Given the description of an element on the screen output the (x, y) to click on. 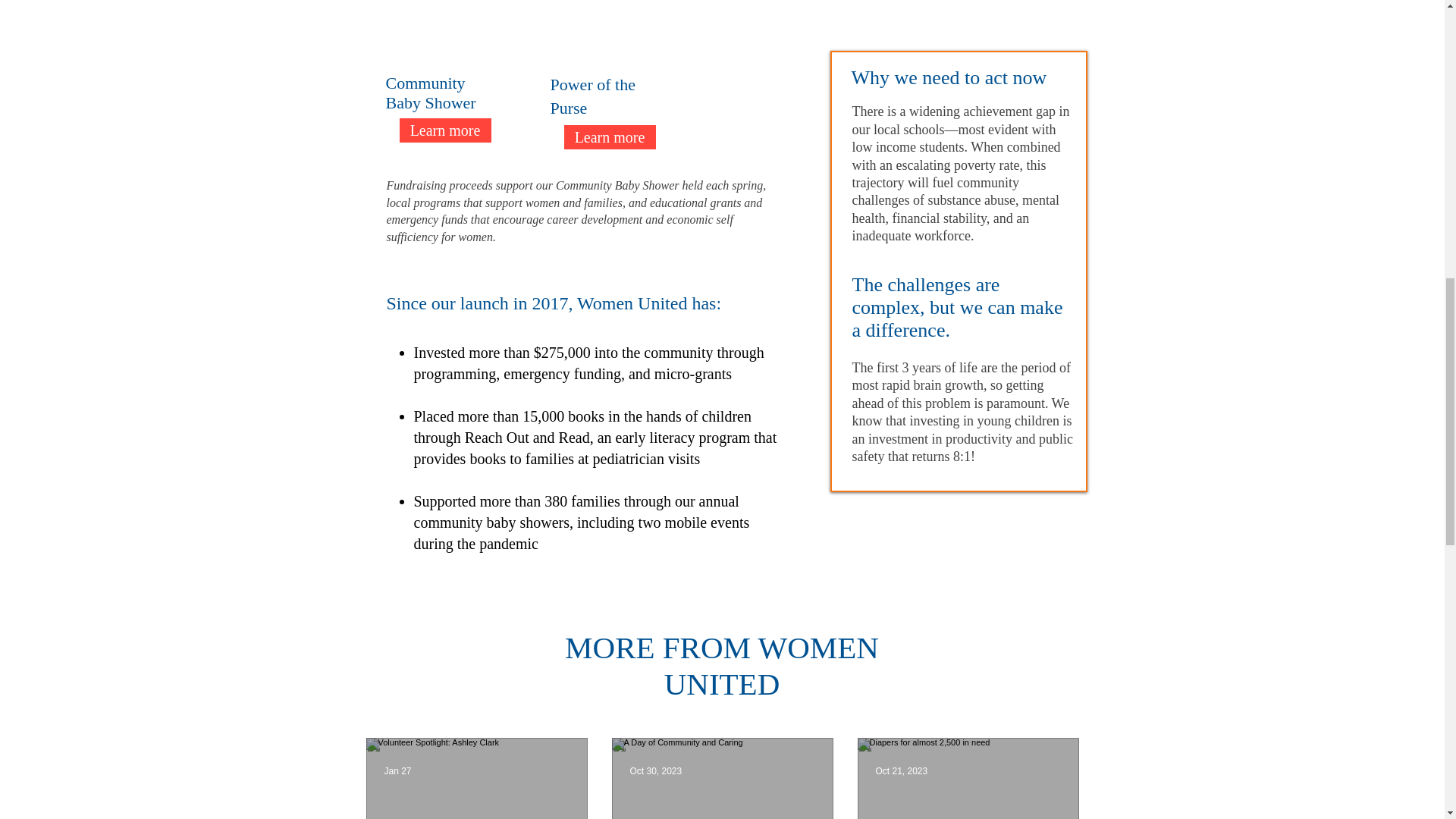
Oct 30, 2023 (654, 770)
Jan 27 (397, 770)
Oct 21, 2023 (901, 770)
